Given the description of an element on the screen output the (x, y) to click on. 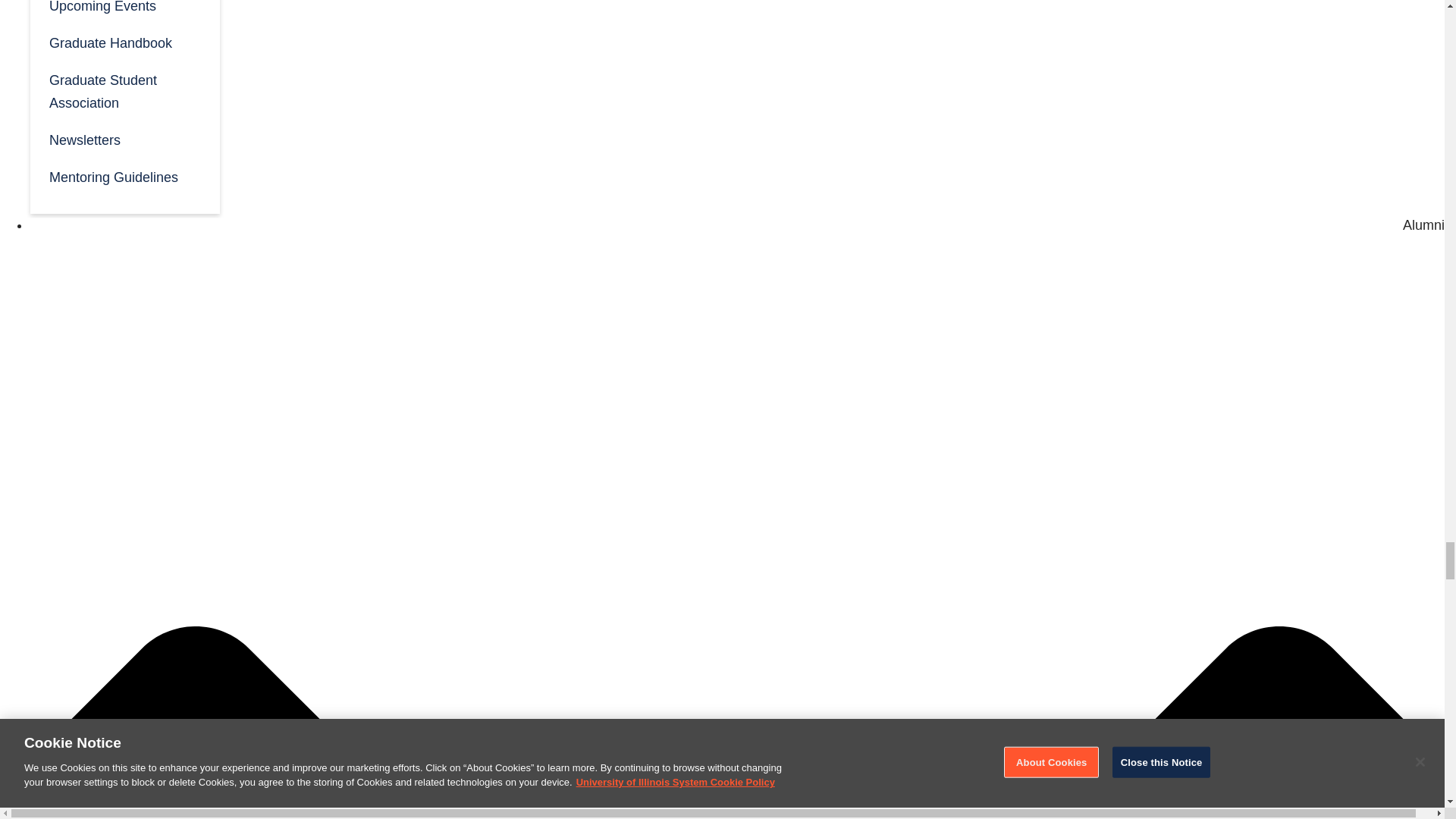
Alumni (1423, 224)
Newsletters (125, 139)
Graduate Handbook (125, 41)
Graduate Student Association (125, 90)
Mentoring Guidelines (125, 176)
Upcoming Events (125, 11)
